Given the description of an element on the screen output the (x, y) to click on. 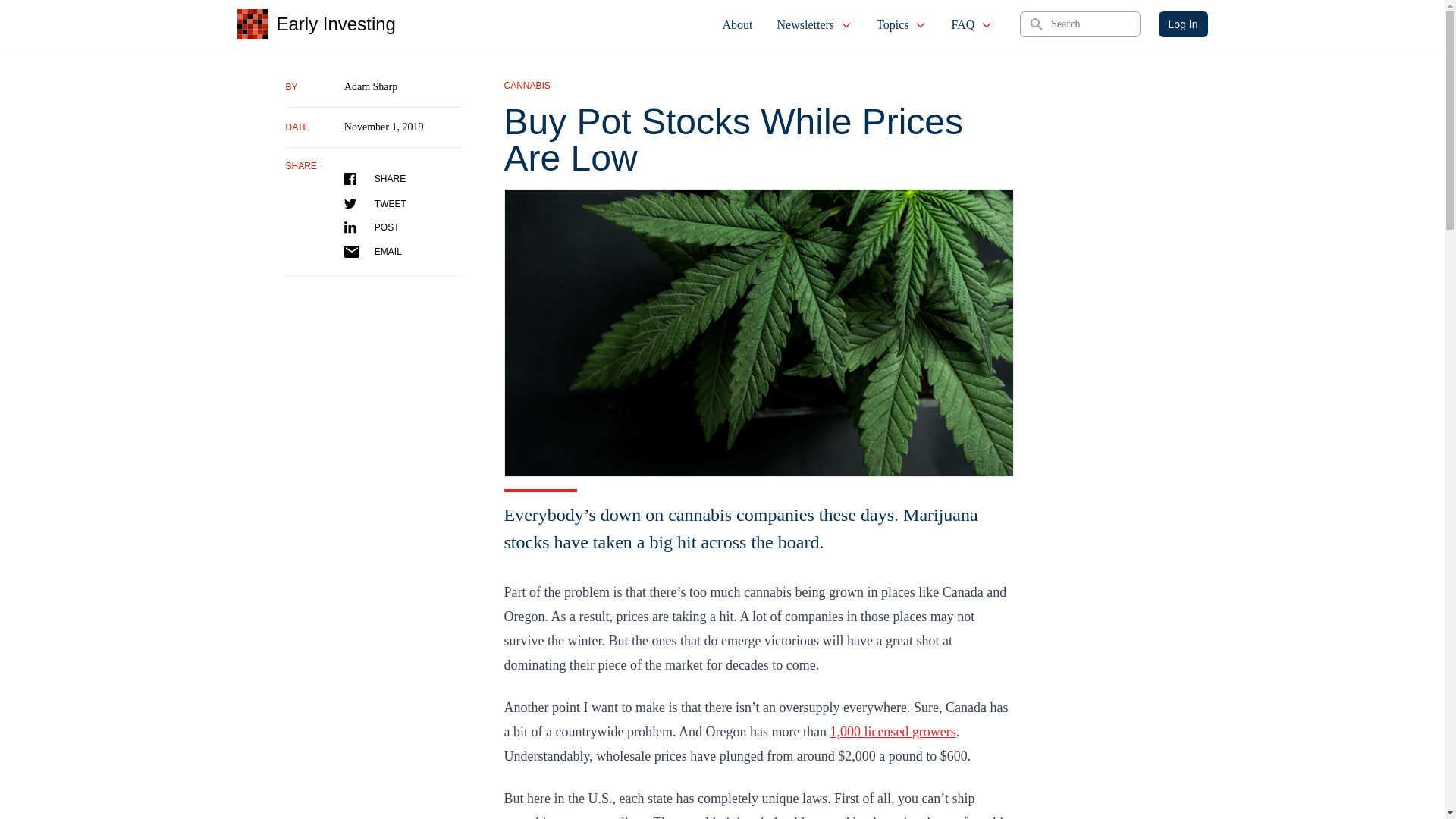
Topics (901, 24)
Early Investing (314, 24)
Log In (1183, 23)
Newsletters (814, 24)
FAQ (971, 24)
SHARE (374, 178)
TWEET (374, 203)
EMAIL (372, 251)
POST (370, 227)
Adam Sharp (370, 86)
